Given the description of an element on the screen output the (x, y) to click on. 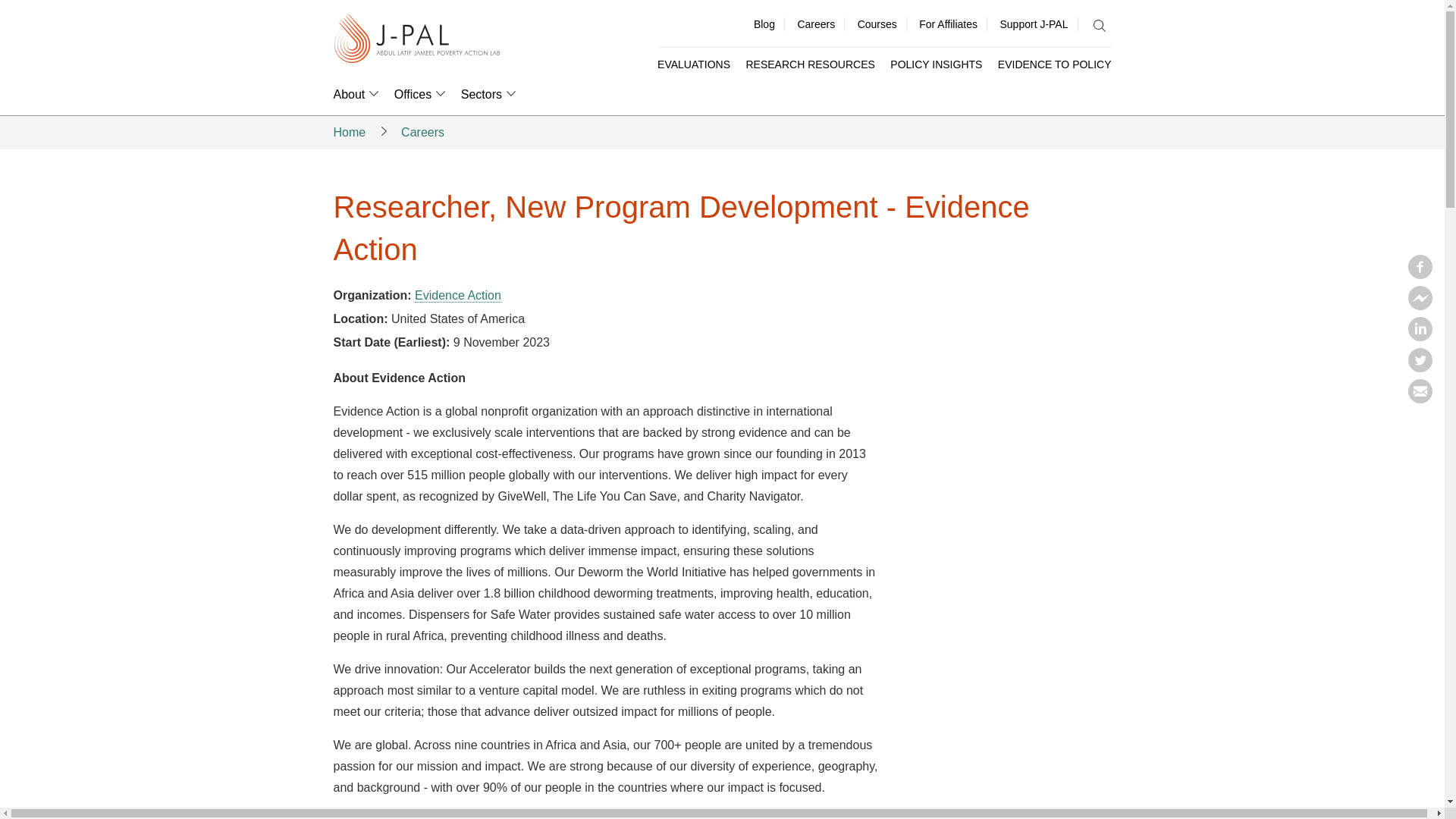
Facebook (1419, 274)
Twitter (1419, 367)
Email (1419, 399)
J-PAL (416, 39)
Linkedin (1419, 336)
Facebook messenger (1419, 305)
